Given the description of an element on the screen output the (x, y) to click on. 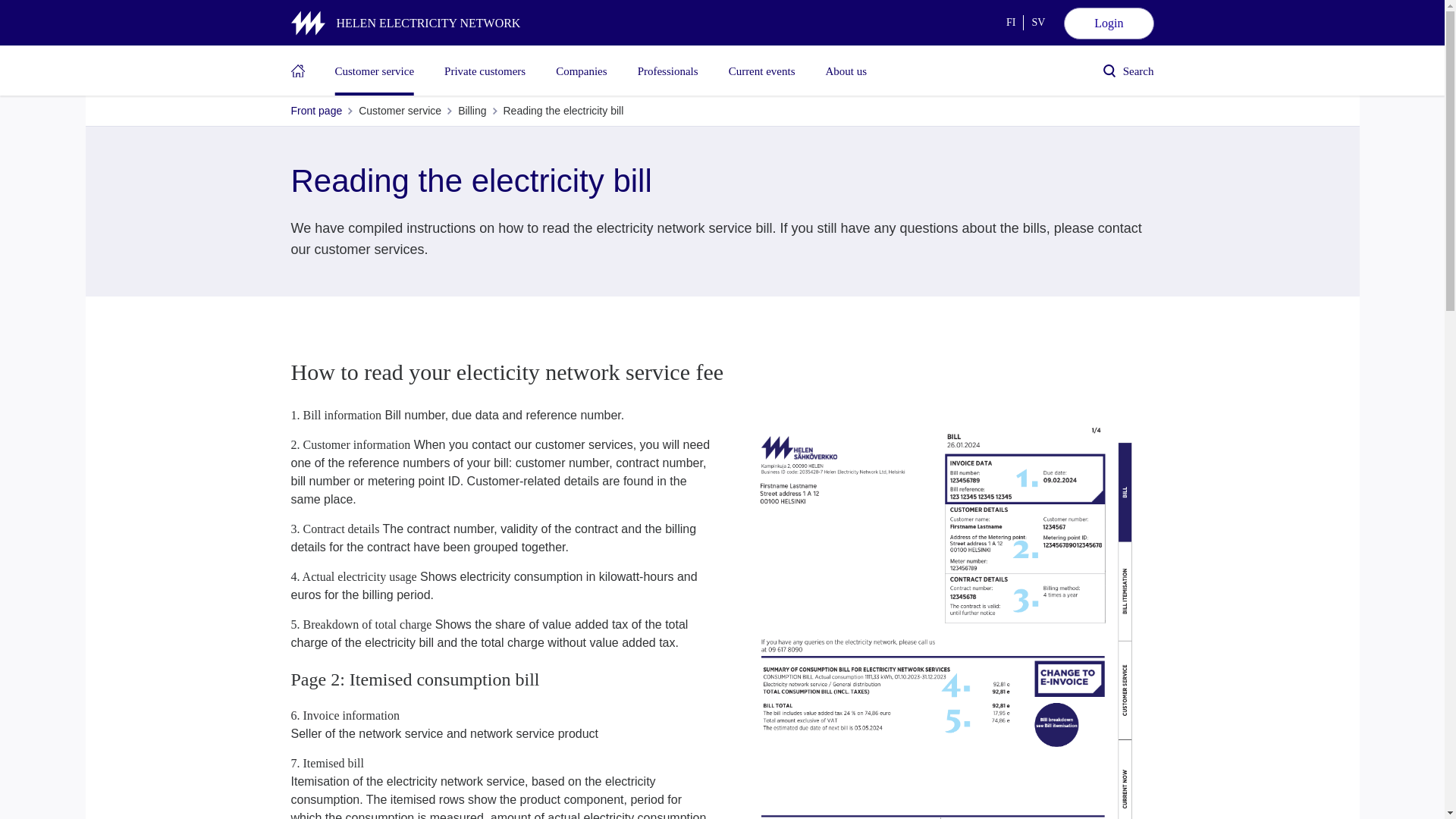
Private customers (484, 71)
Login (1108, 23)
Professionals (667, 71)
About us (846, 71)
Skip to main content (776, 6)
SV (1037, 22)
Login (1108, 23)
Search from site (1128, 71)
Companies (581, 71)
Search (1128, 71)
Customer service (374, 71)
Home (297, 70)
Current events (761, 71)
Front page (316, 110)
